Given the description of an element on the screen output the (x, y) to click on. 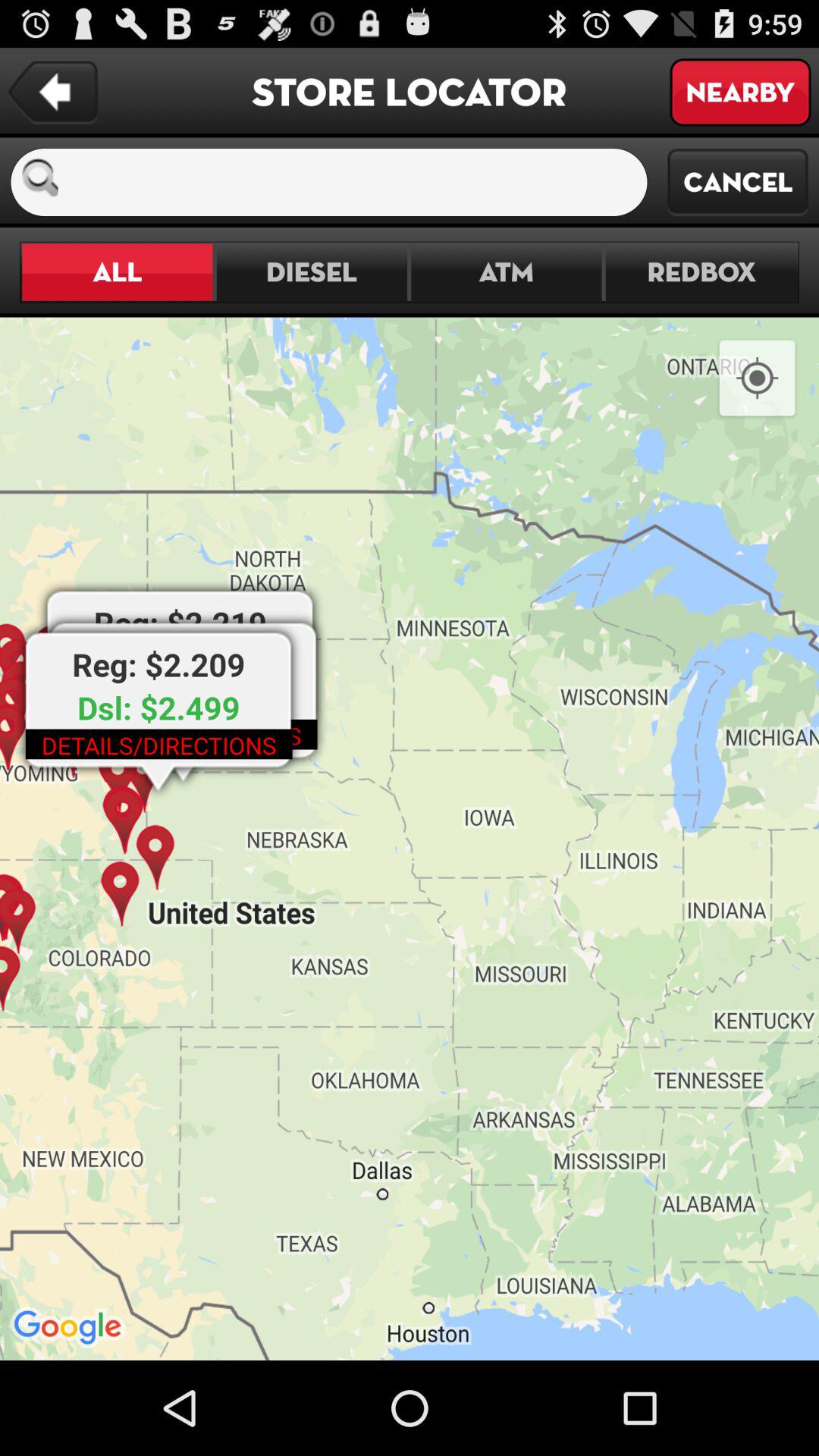
jump to the diesel icon (311, 271)
